Given the description of an element on the screen output the (x, y) to click on. 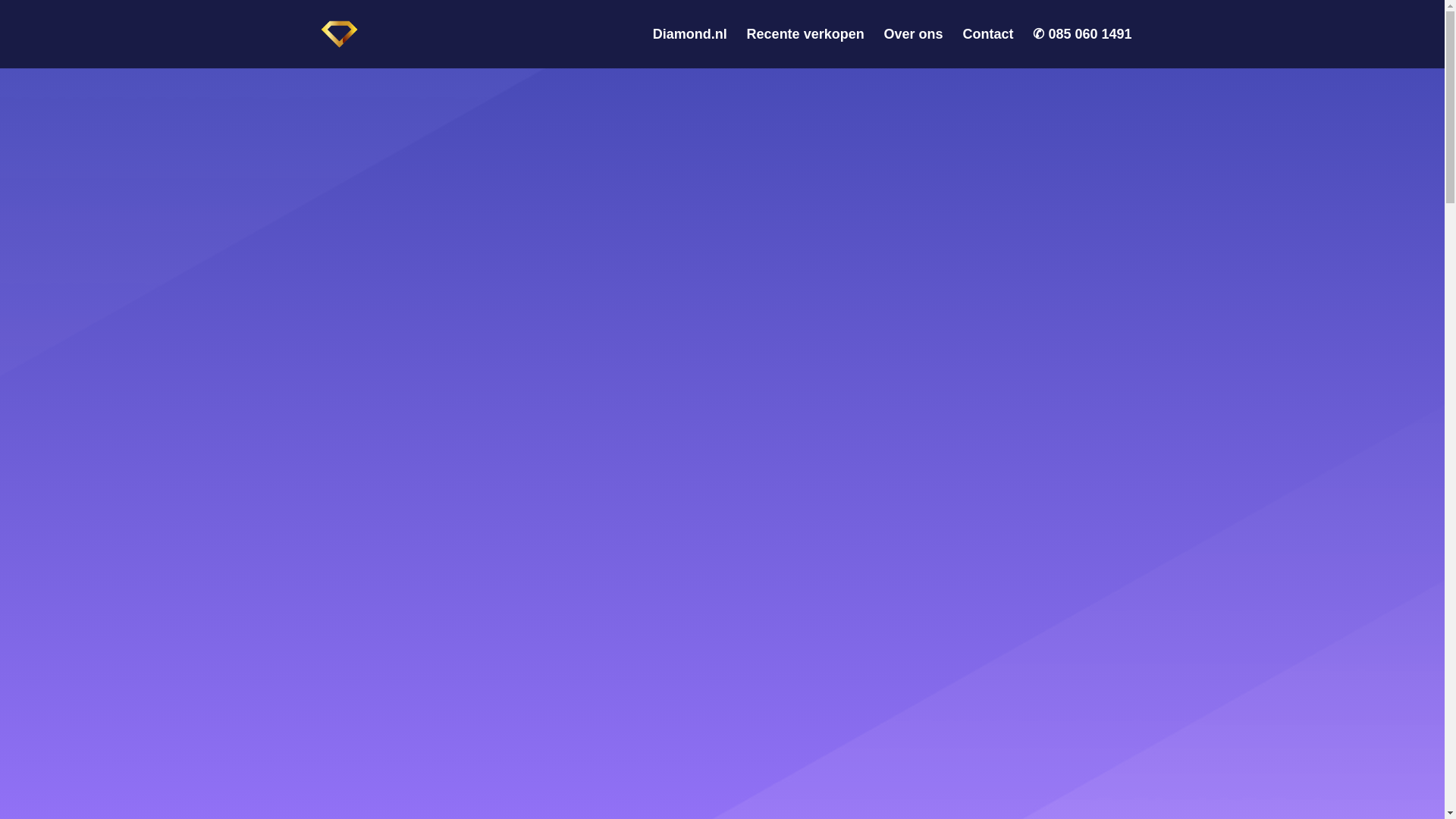
Diamond.nl (689, 47)
Contact (987, 47)
Over ons (913, 47)
Recente verkopen (805, 47)
